Given the description of an element on the screen output the (x, y) to click on. 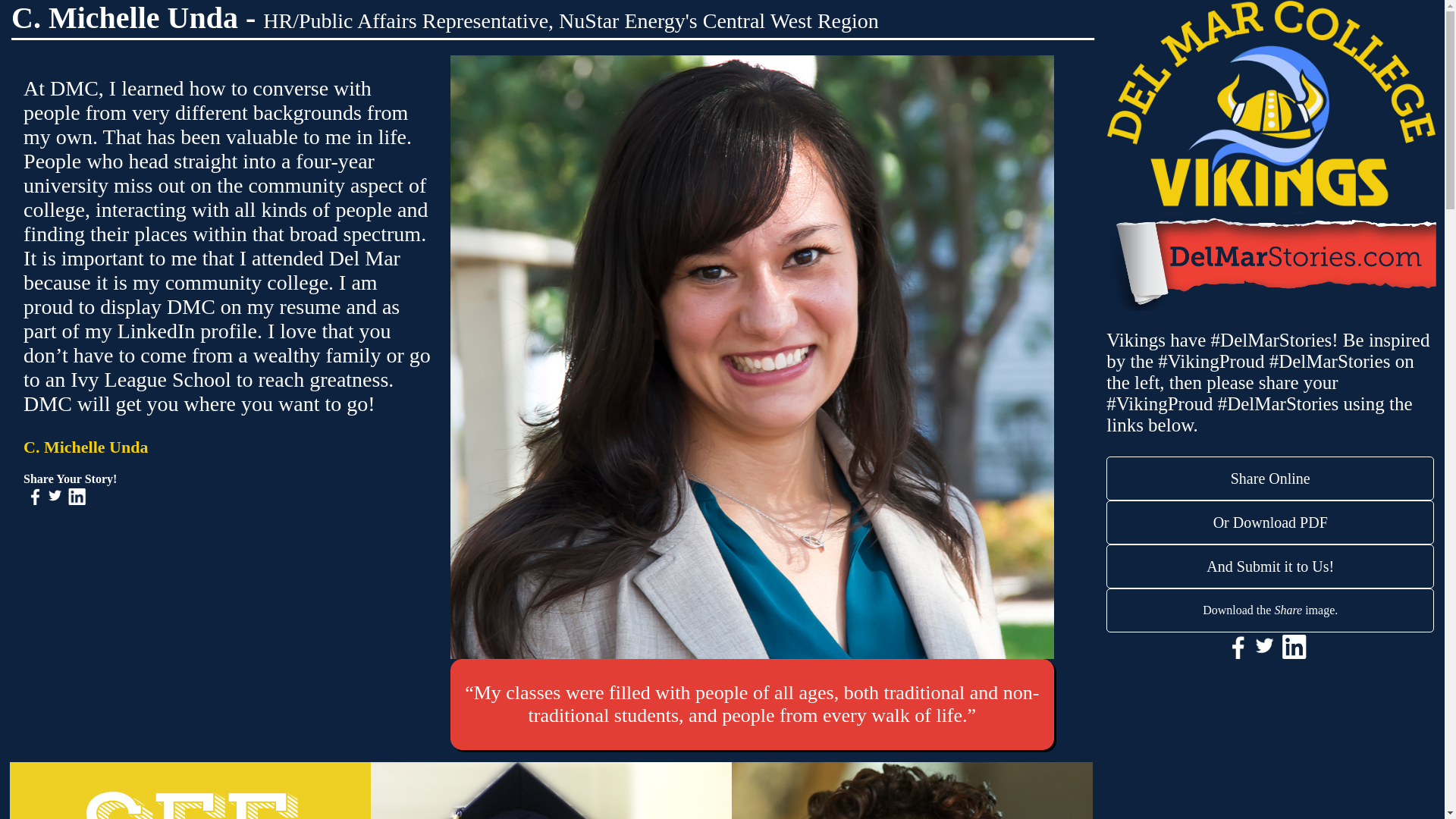
Share Online (1270, 478)
Or Download PDF (1270, 522)
And Submit it to Us! (1270, 566)
Download the Share image. (1270, 610)
